Given the description of an element on the screen output the (x, y) to click on. 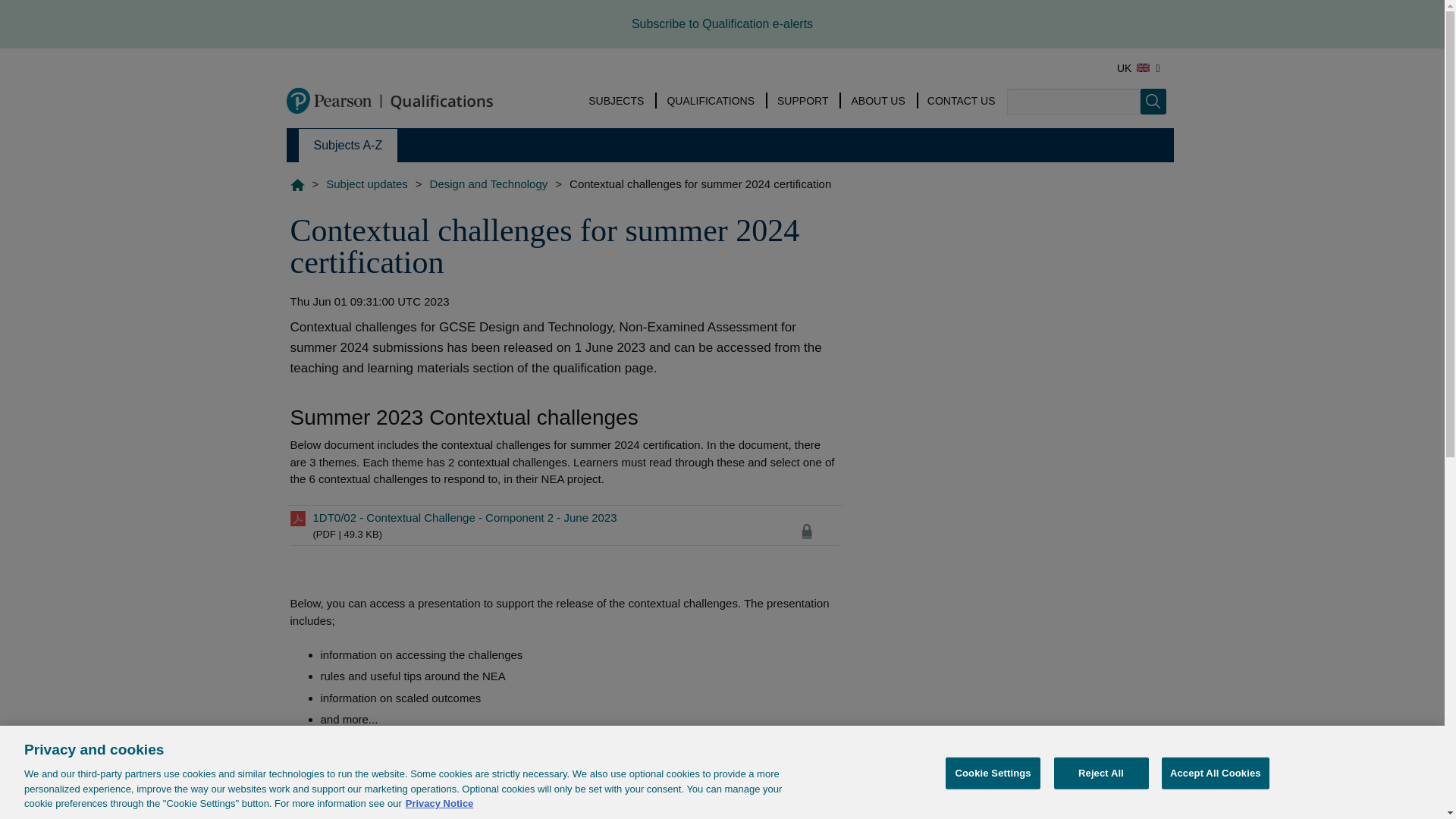
SUBJECTS (616, 100)
Search Text Field (1073, 101)
Return to the main page (392, 99)
Pearson UK (392, 99)
Subscribe to Qualification e-alerts (721, 23)
UK (1137, 67)
